Given the description of an element on the screen output the (x, y) to click on. 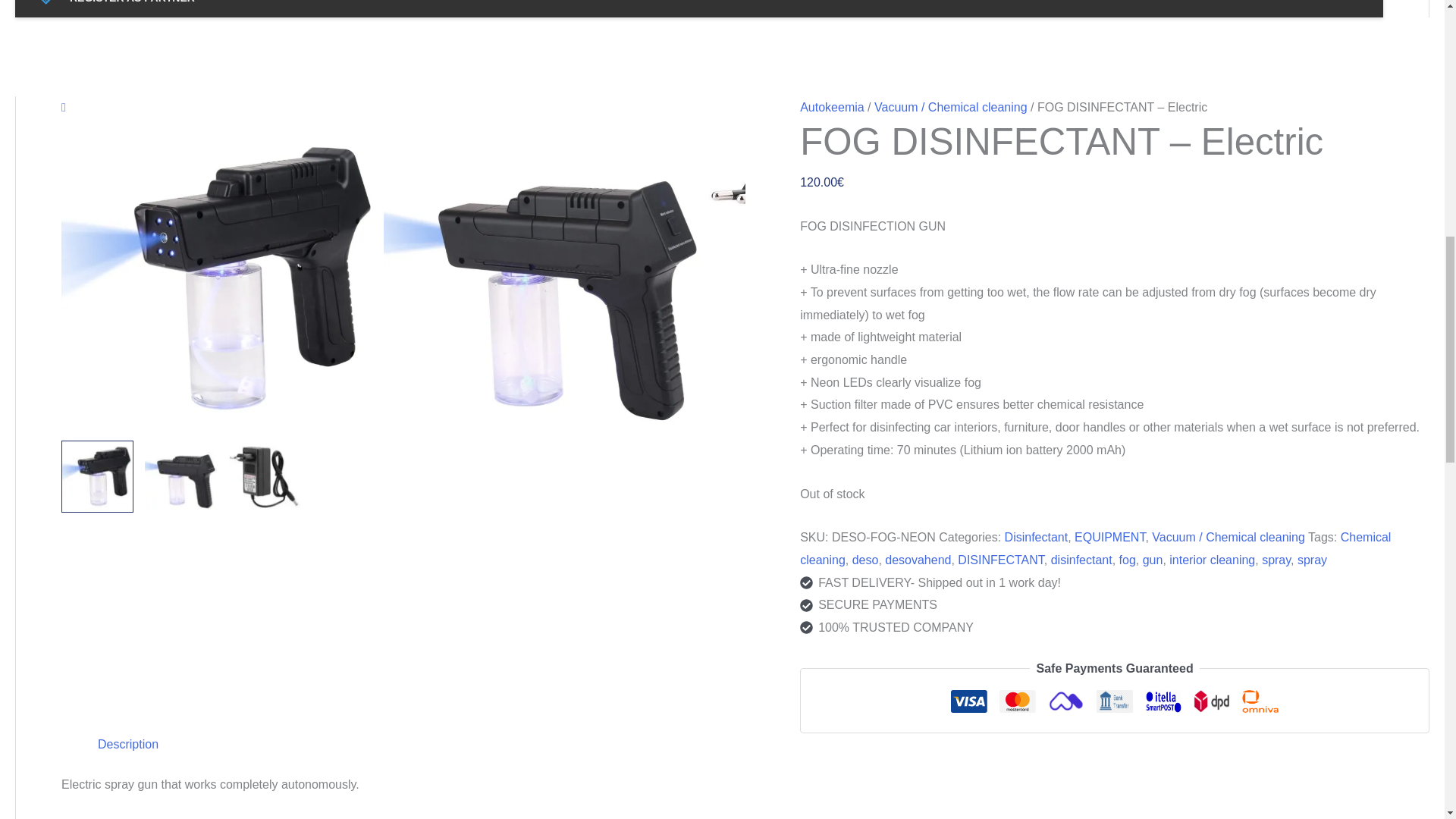
deso-pustol-udu.jpg (222, 279)
deso-pustol-udu-3.jpg (865, 279)
deso-pustol-udu-2.jpg (545, 279)
